Given the description of an element on the screen output the (x, y) to click on. 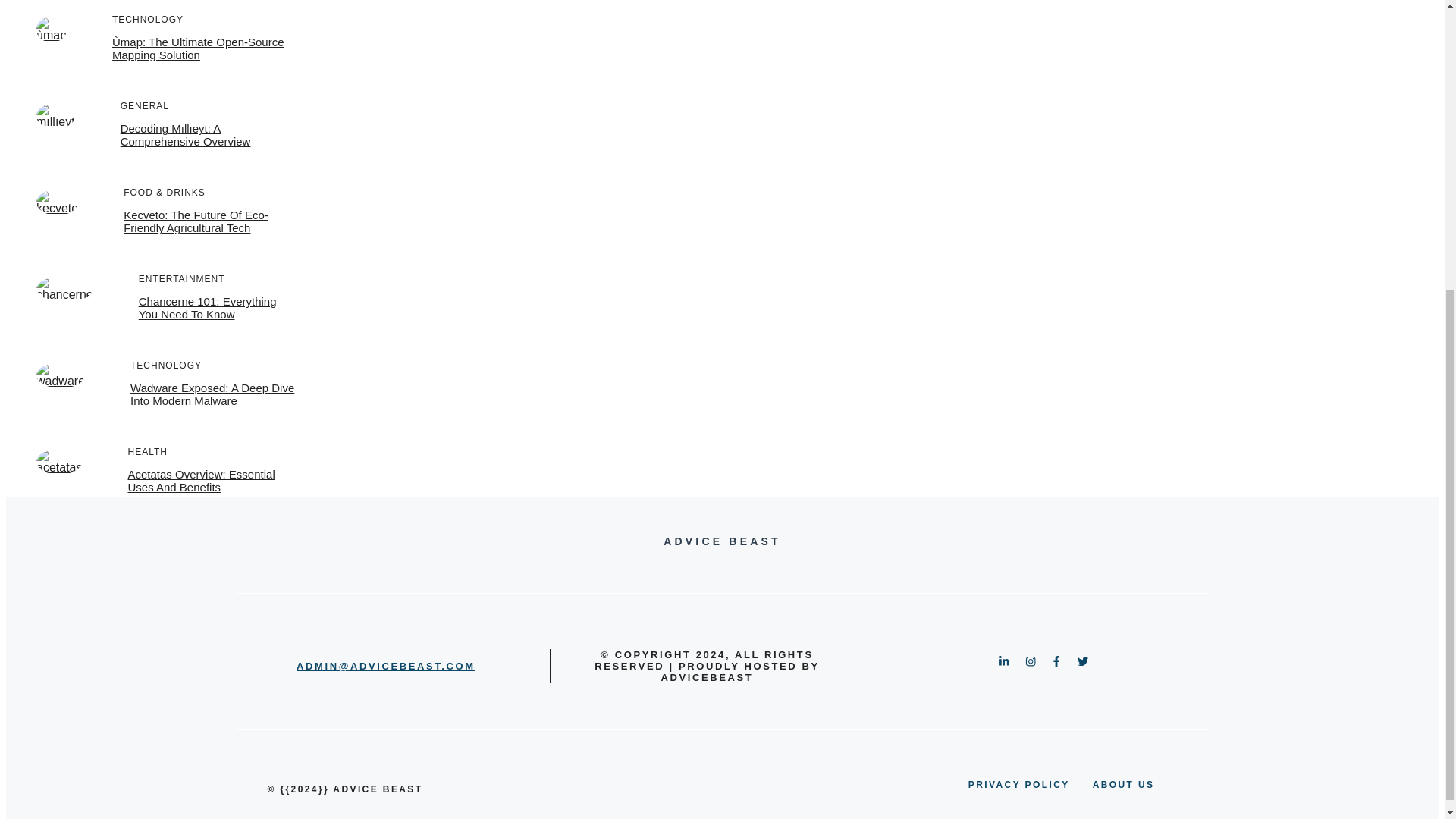
Wadware Exposed: A Deep Dive Into Modern Malware (212, 394)
ABOUT US (1123, 784)
Chancerne 101: Everything You Need To Know (207, 307)
Kecveto: The Future Of Eco-Friendly Agricultural Tech (195, 221)
PRIVACY POLICY (1019, 784)
Acetatas Overview: Essential Uses And Benefits (201, 480)
